Given the description of an element on the screen output the (x, y) to click on. 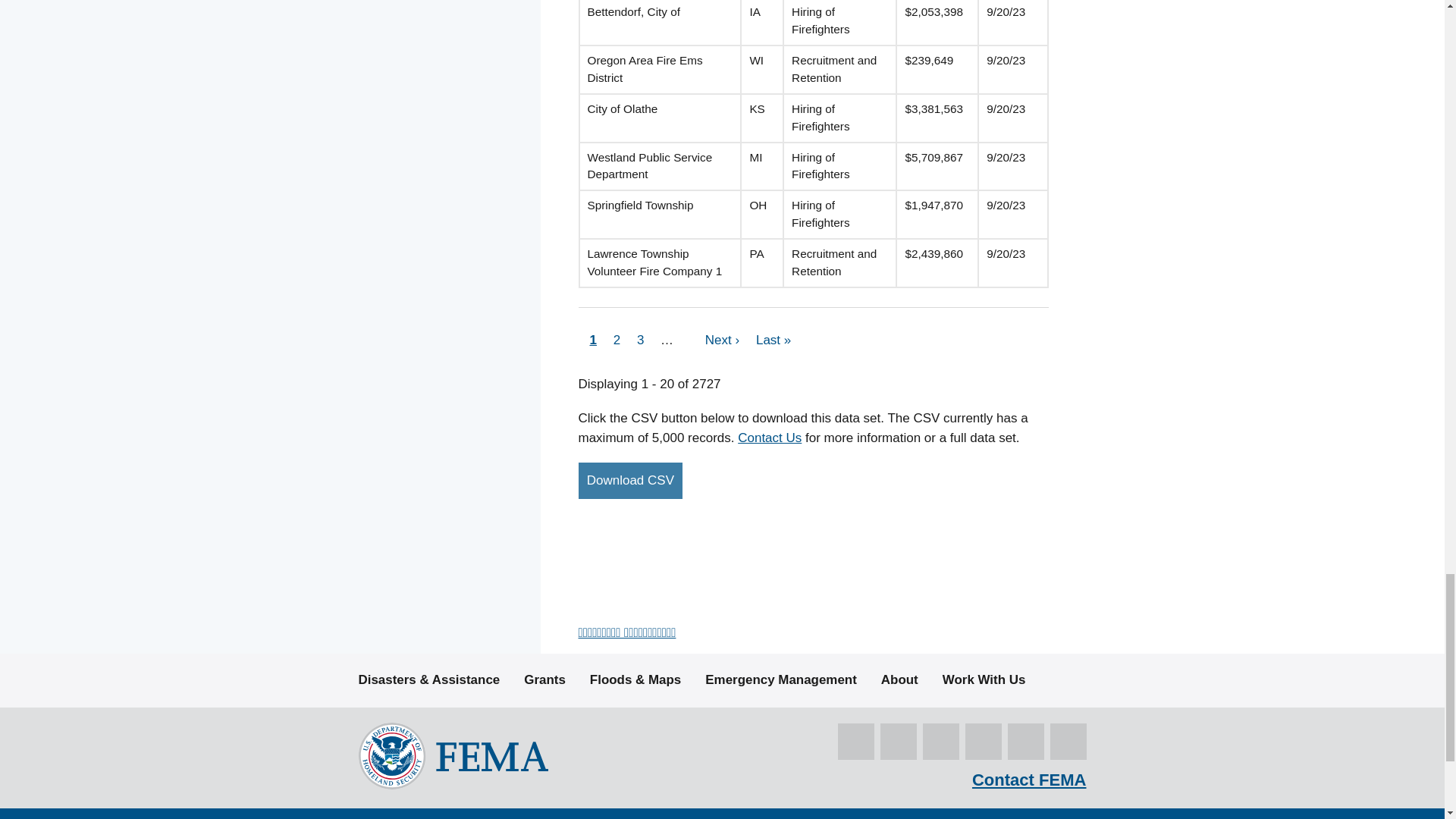
FEMA logo (452, 755)
